Given the description of an element on the screen output the (x, y) to click on. 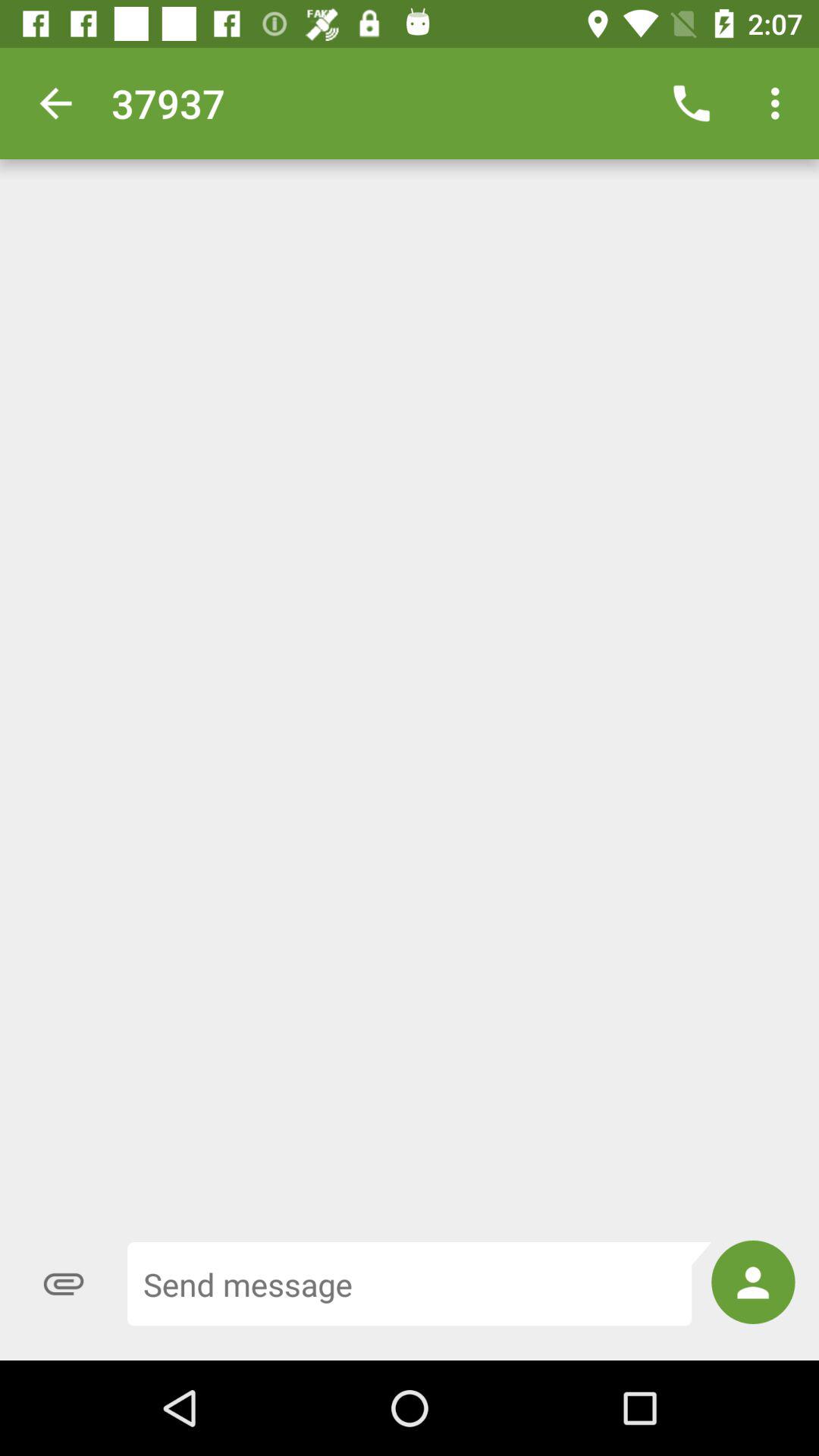
launch icon at the bottom left corner (63, 1284)
